Given the description of an element on the screen output the (x, y) to click on. 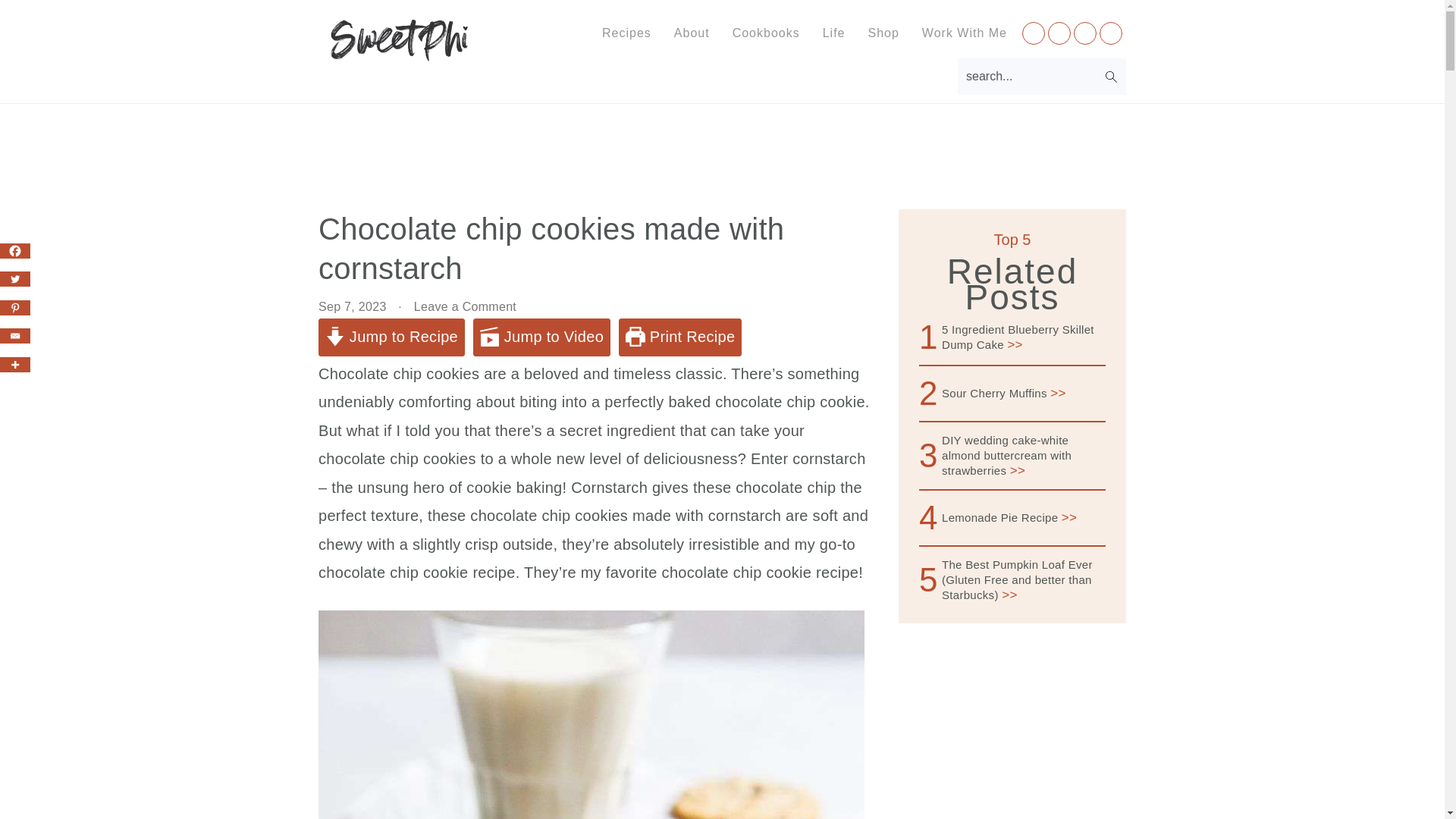
Jump to Recipe (391, 337)
Jump to Video (541, 337)
Shop (883, 33)
Leave a Comment (464, 306)
Cookbooks (765, 33)
Sweetphi (399, 50)
Facebook (15, 250)
Email (15, 335)
Sweetphi (399, 40)
Recipes (626, 33)
About (691, 33)
More (15, 364)
Work With Me (964, 33)
